Given the description of an element on the screen output the (x, y) to click on. 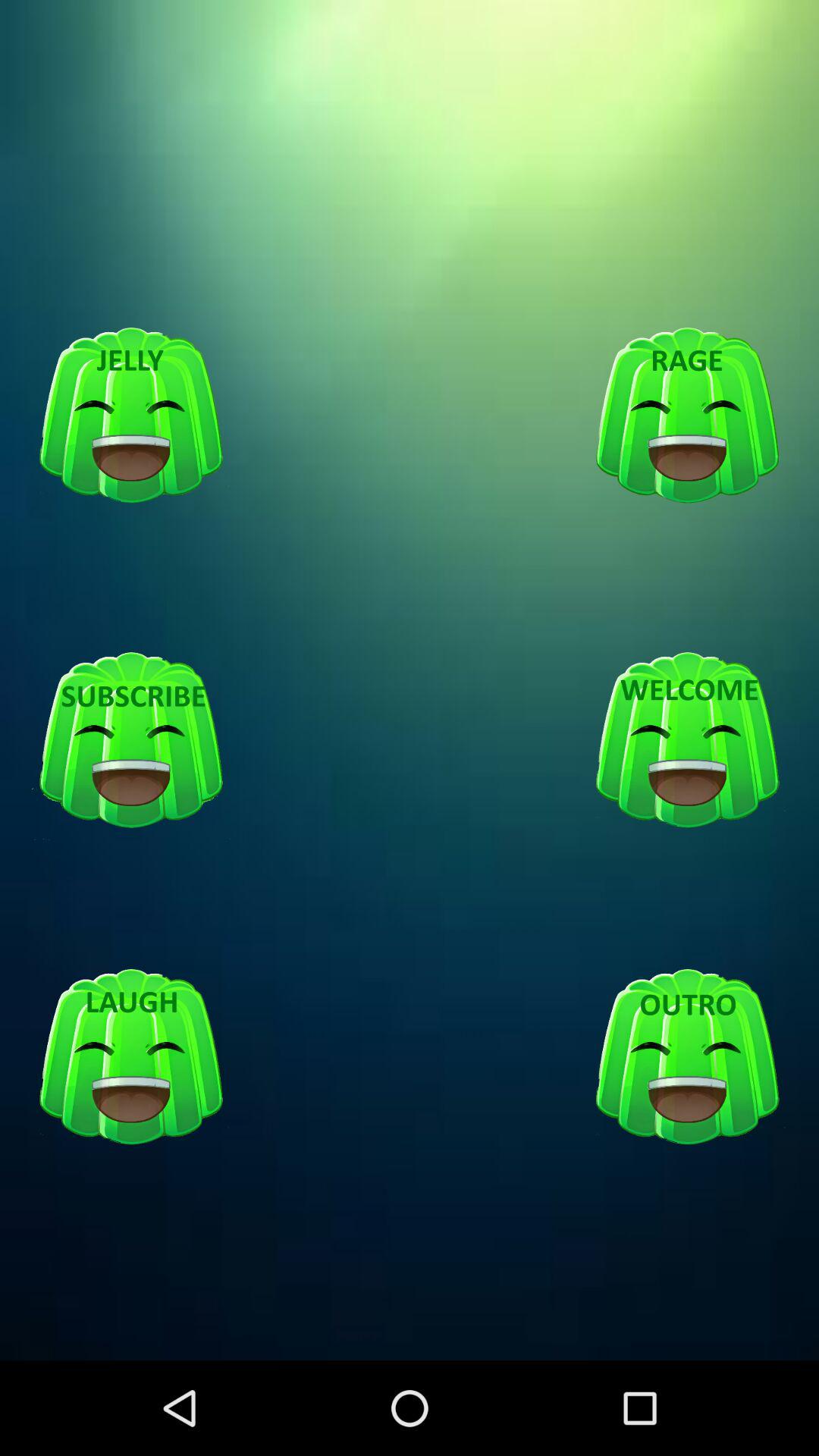
rage option (687, 415)
